Given the description of an element on the screen output the (x, y) to click on. 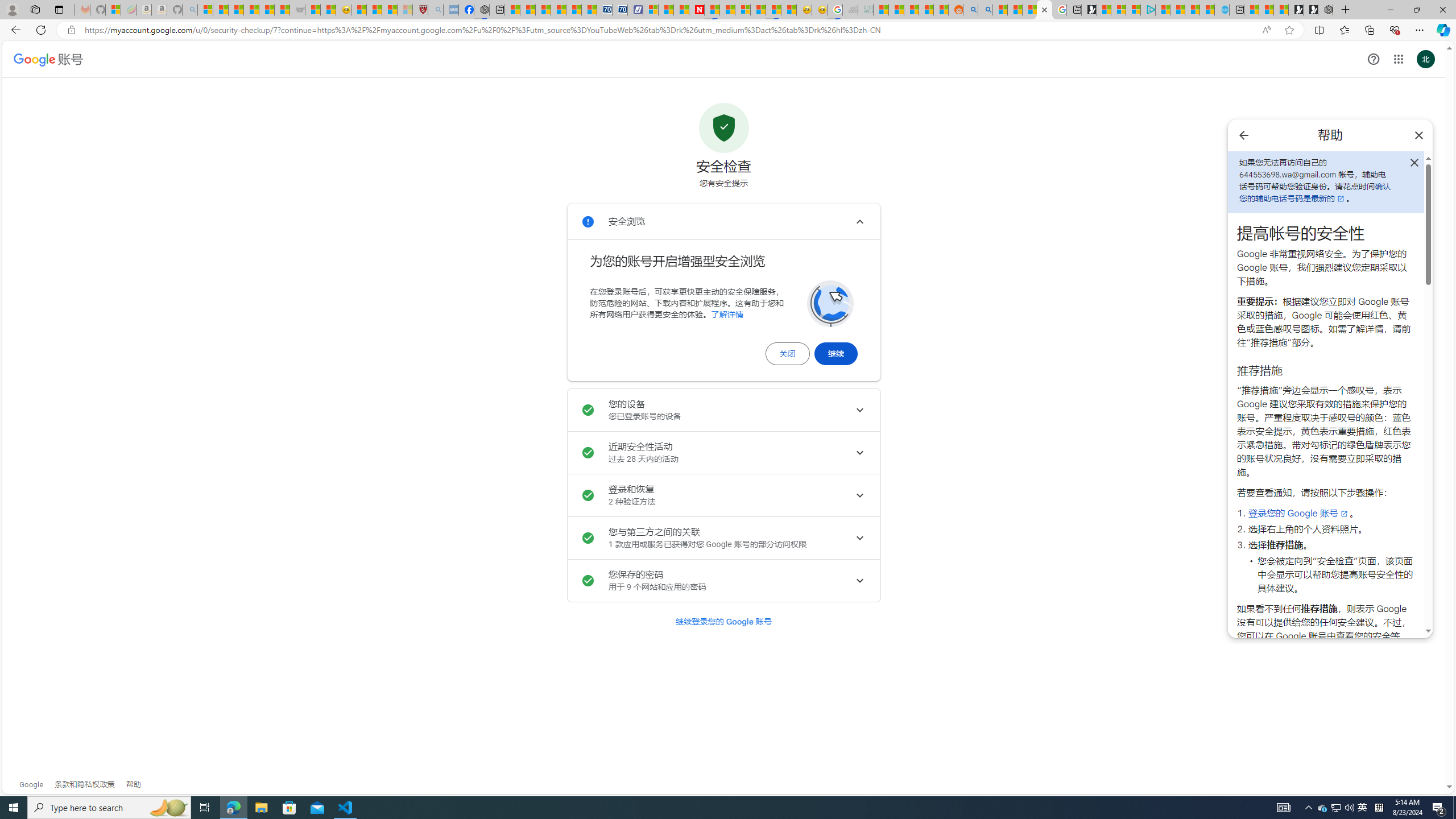
Cheap Car Rentals - Save70.com (604, 9)
12 Popular Science Lies that Must be Corrected - Sleeping (405, 9)
